Given the description of an element on the screen output the (x, y) to click on. 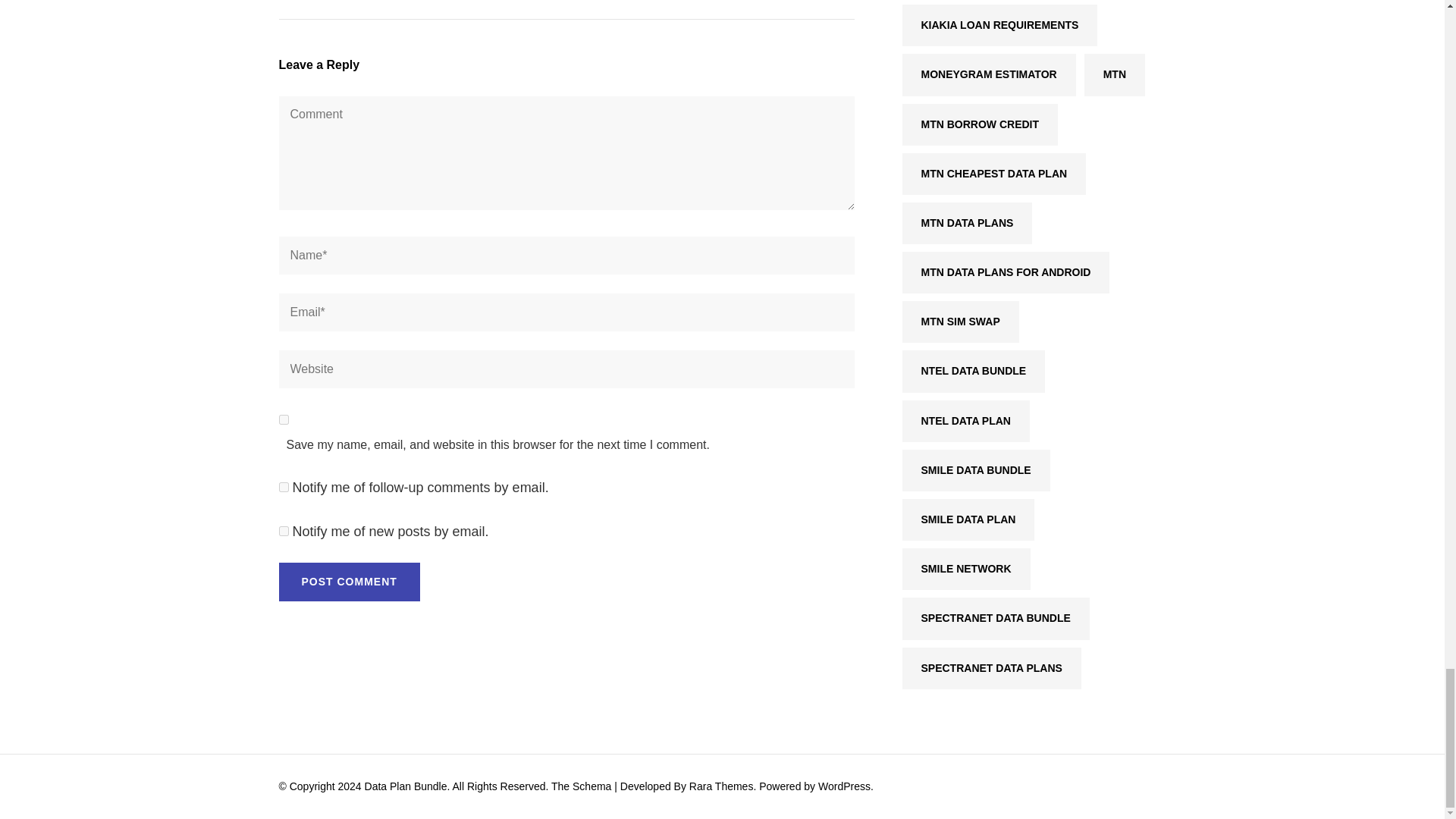
Post Comment (349, 581)
subscribe (283, 531)
yes (283, 419)
subscribe (283, 487)
